Given the description of an element on the screen output the (x, y) to click on. 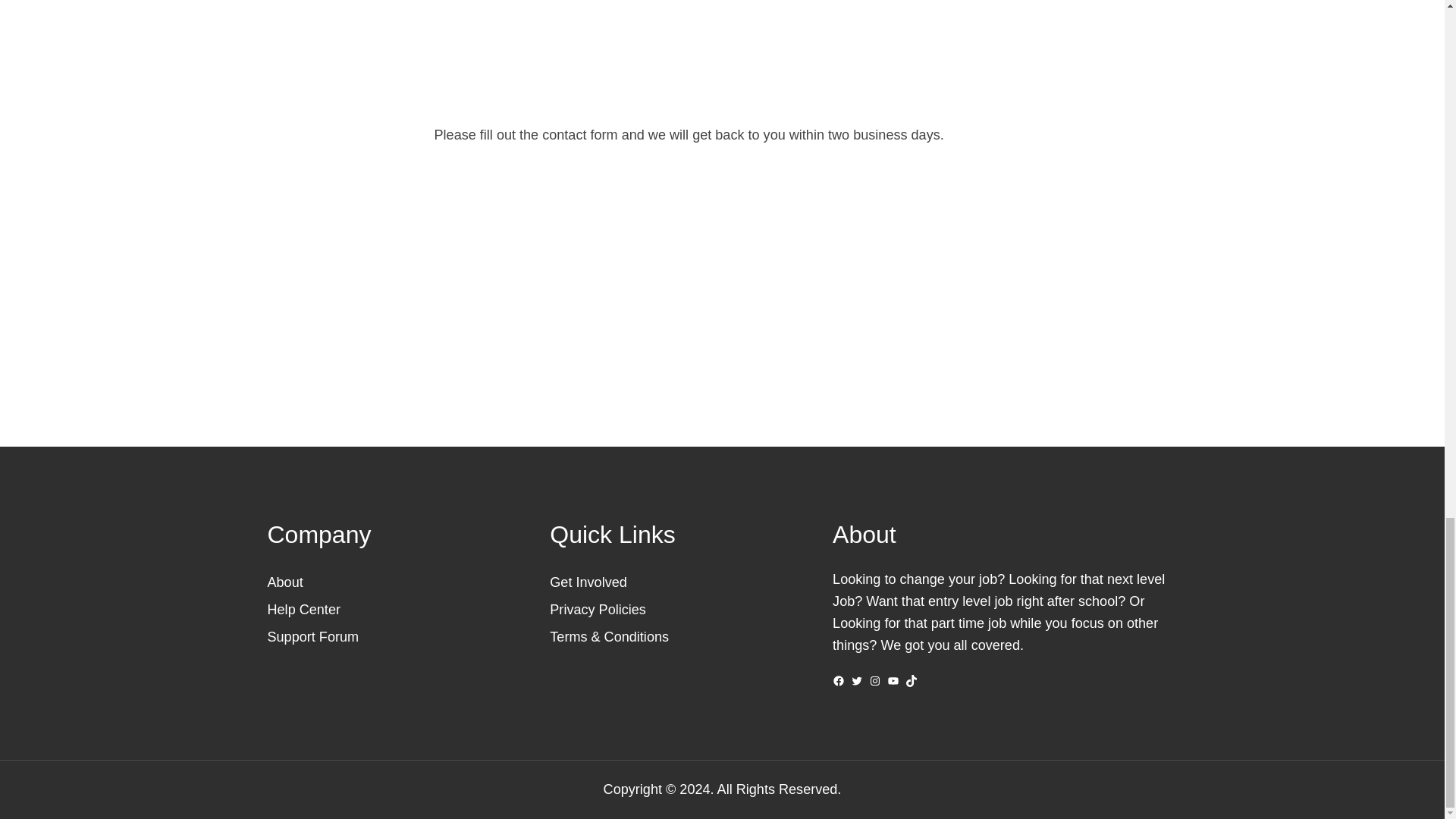
Support Forum (312, 636)
Advertisement (721, 53)
TikTok (911, 680)
Instagram (874, 680)
Get Involved (588, 581)
YouTube (892, 680)
Help Center (302, 609)
Facebook (838, 680)
Twitter (856, 680)
Advertisement (721, 259)
Privacy Policies (598, 609)
